Given the description of an element on the screen output the (x, y) to click on. 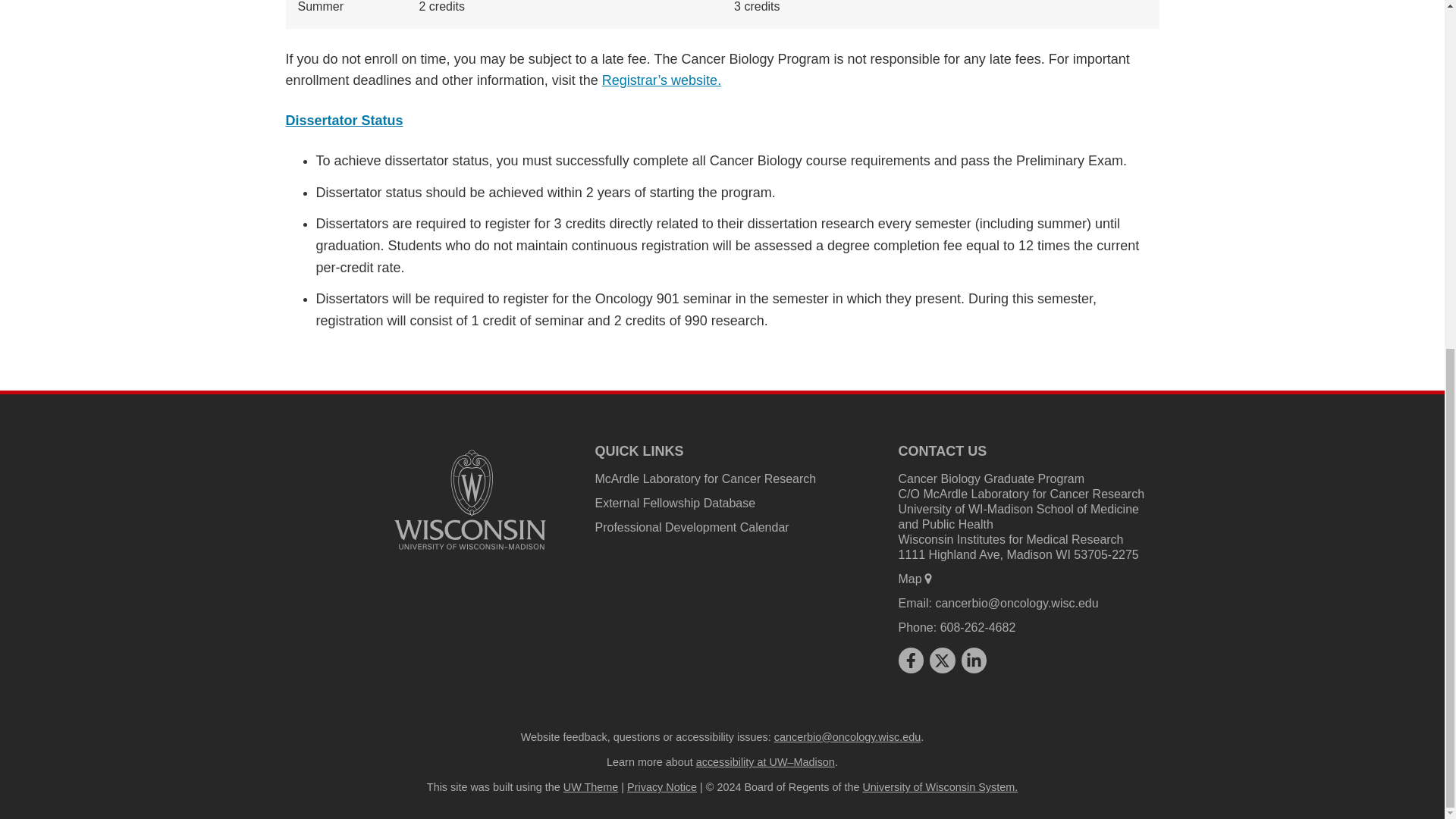
University logo that links to main university website (470, 499)
map marker (927, 578)
University logo that links to main university website (470, 552)
Professional Development Calendar (691, 526)
x twitter (941, 660)
linkedin (973, 660)
linkedin (973, 660)
McArdle Laboratory for Cancer Research (704, 478)
facebook (910, 660)
facebook (910, 660)
